Given the description of an element on the screen output the (x, y) to click on. 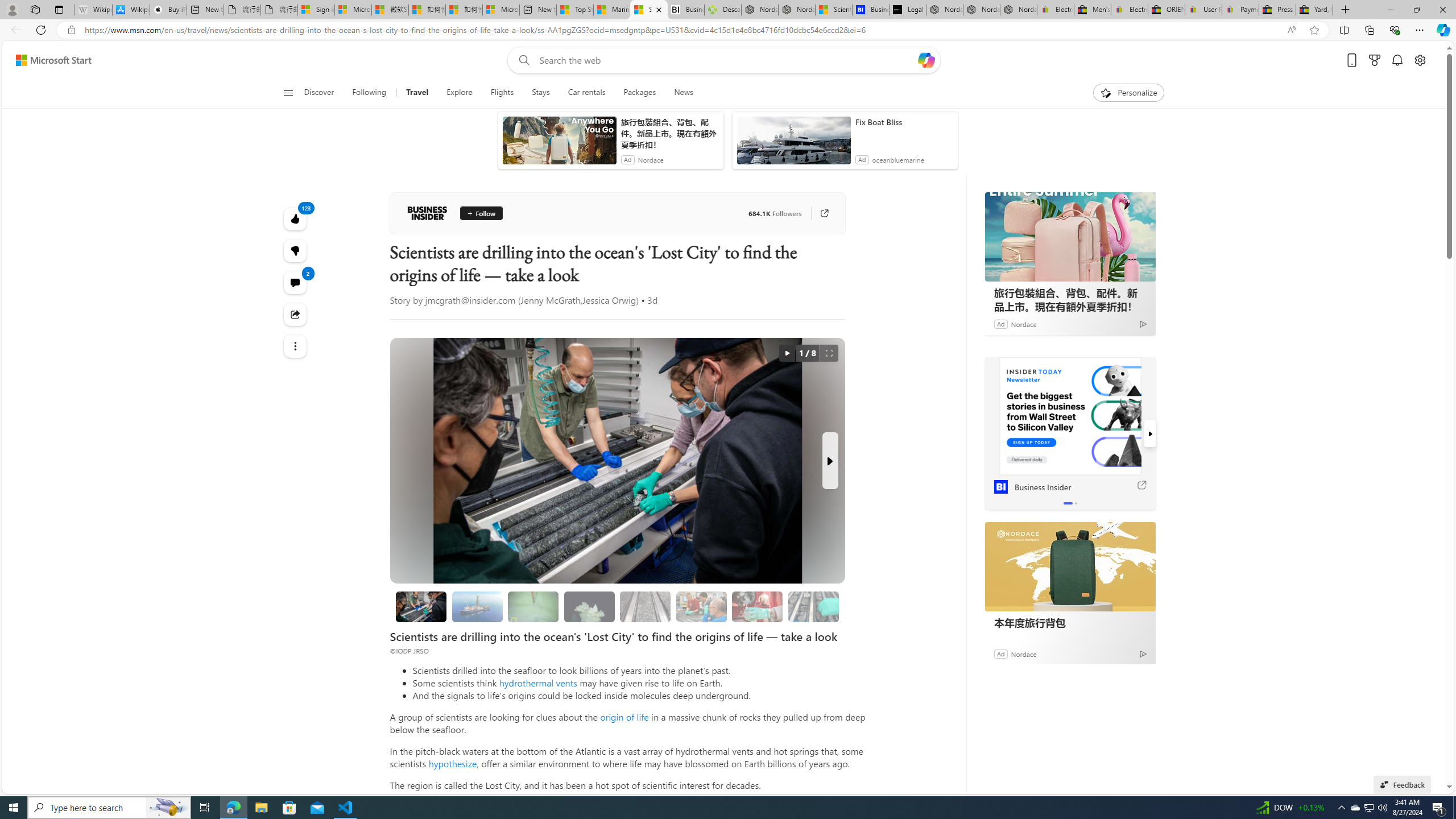
Business Insider (427, 213)
Fix Boat Bliss (903, 121)
Class: button-glyph (287, 92)
Follow (481, 213)
next (1150, 433)
Personalize (1128, 92)
Payments Terms of Use | eBay.com (1240, 9)
